Given the description of an element on the screen output the (x, y) to click on. 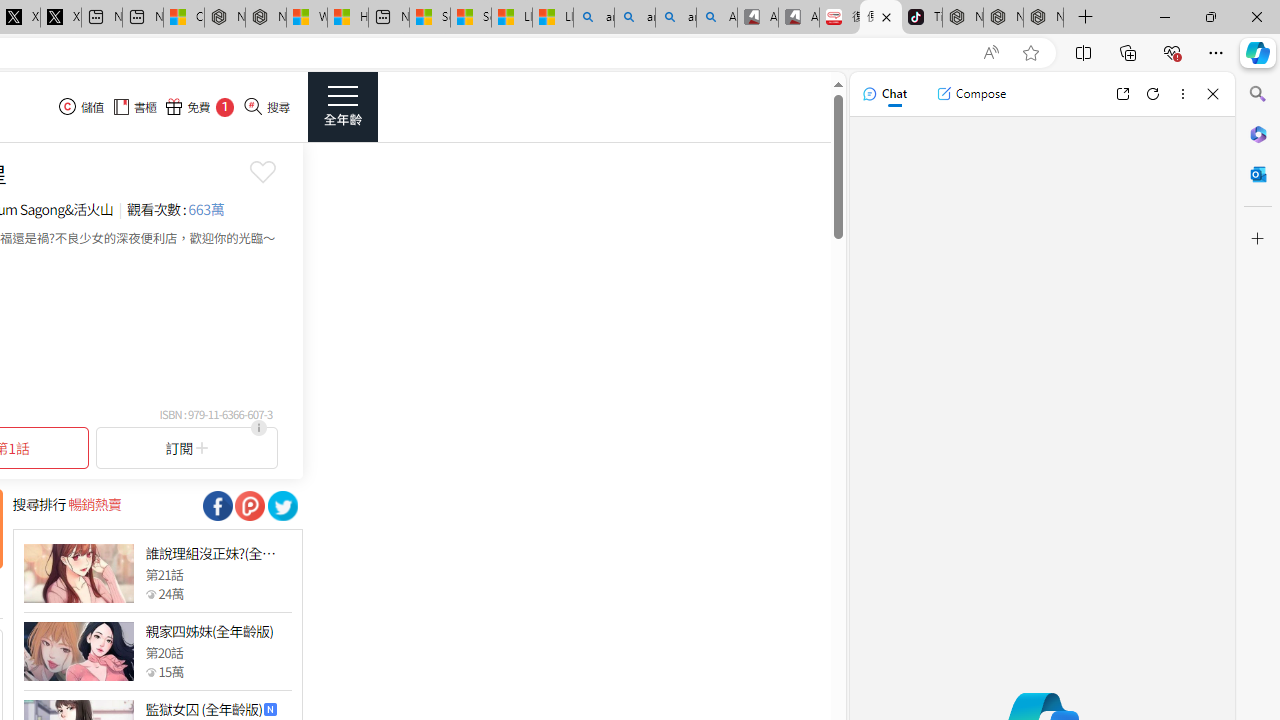
Customize (1258, 239)
Class: epicon_starpoint (150, 671)
amazon - Search Images (675, 17)
Class: side_menu_btn actionRightMenuBtn (342, 106)
